Given the description of an element on the screen output the (x, y) to click on. 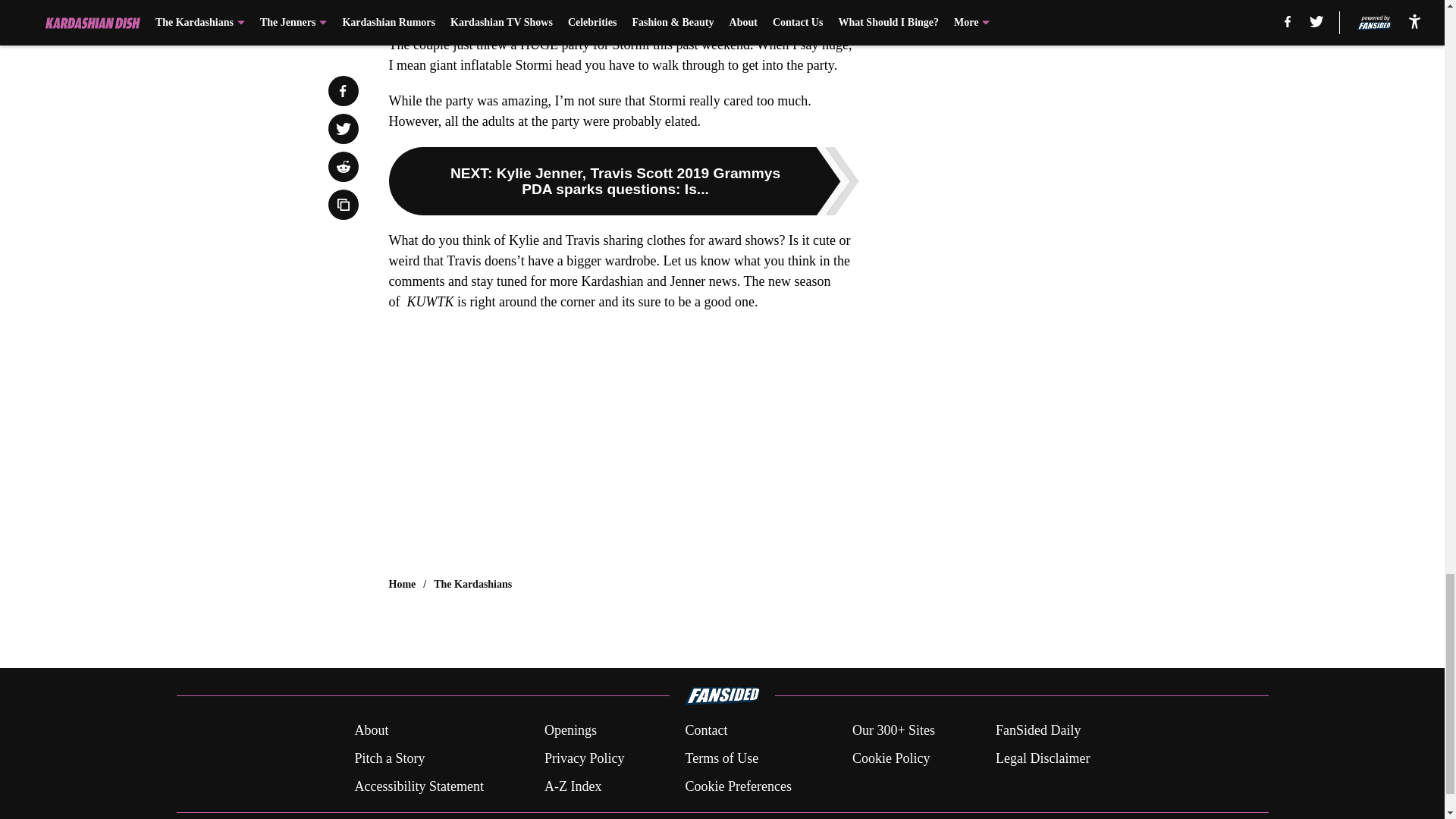
About (370, 730)
Contact (705, 730)
Openings (570, 730)
The Kardashians (472, 584)
Home (401, 584)
